Given the description of an element on the screen output the (x, y) to click on. 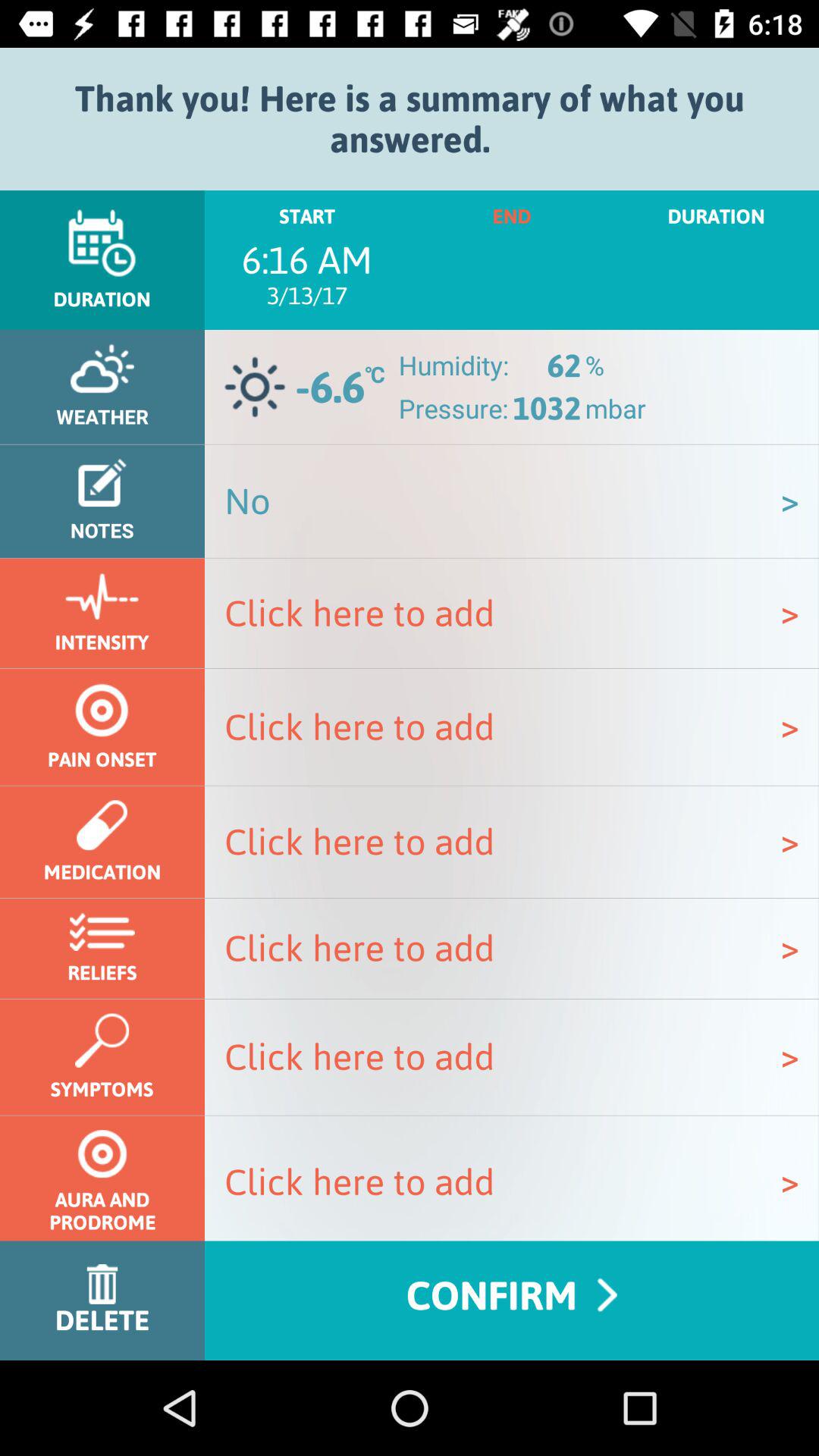
select the option click here to add which is after symptoms option (511, 1056)
click the option next to delete (511, 1300)
click on the text which is left to image reliefs (511, 948)
